Given the description of an element on the screen output the (x, y) to click on. 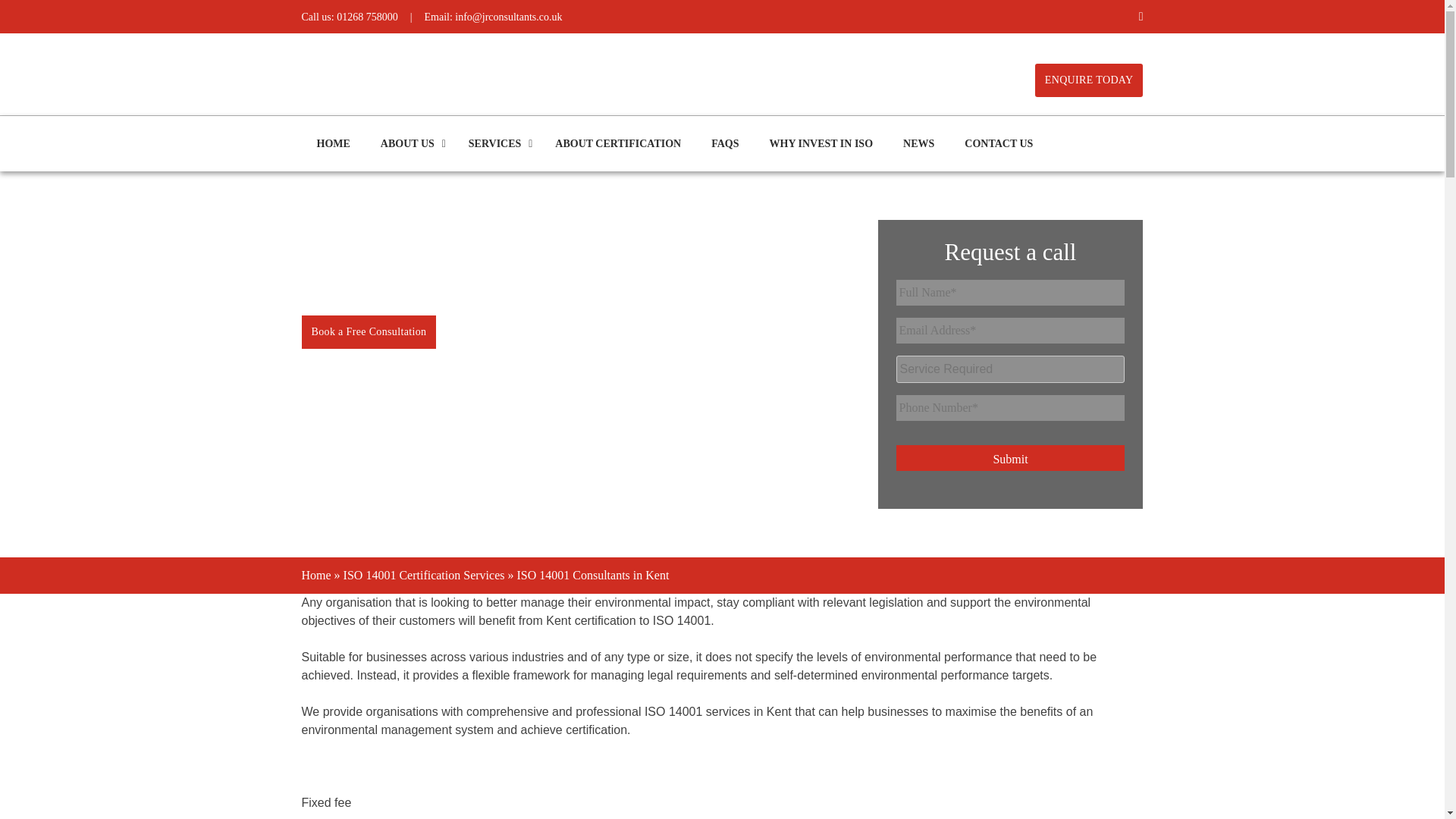
Book a Free Consultation (368, 331)
ABOUT US (408, 143)
Submit (1010, 457)
01268 758000 (366, 16)
HOME (333, 143)
Home (316, 574)
ISO 14001 Certification Services (424, 574)
ABOUT CERTIFICATION (617, 143)
WHY INVEST IN ISO (821, 143)
Submit (1010, 457)
